Given the description of an element on the screen output the (x, y) to click on. 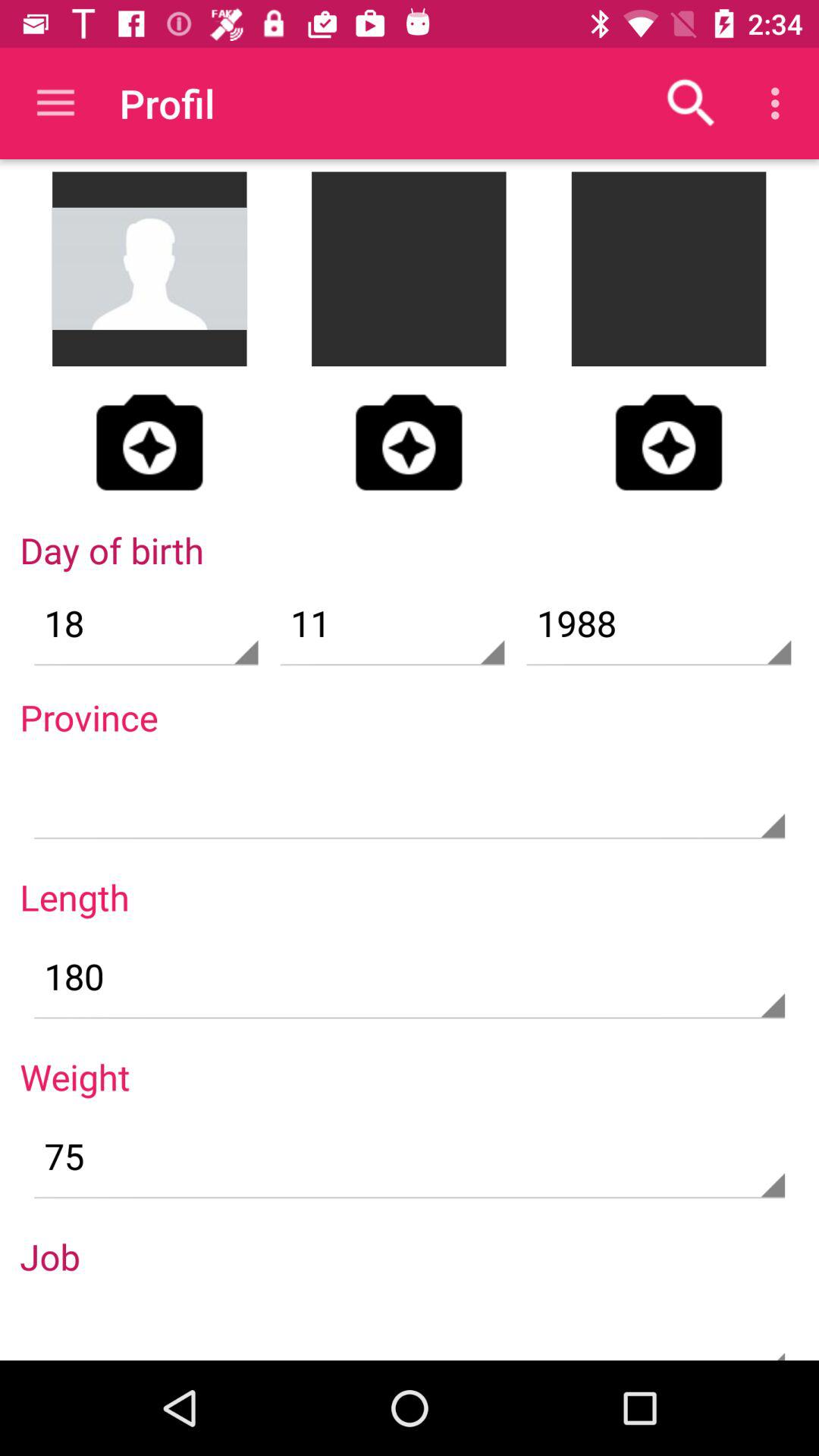
take a photo (408, 442)
